Given the description of an element on the screen output the (x, y) to click on. 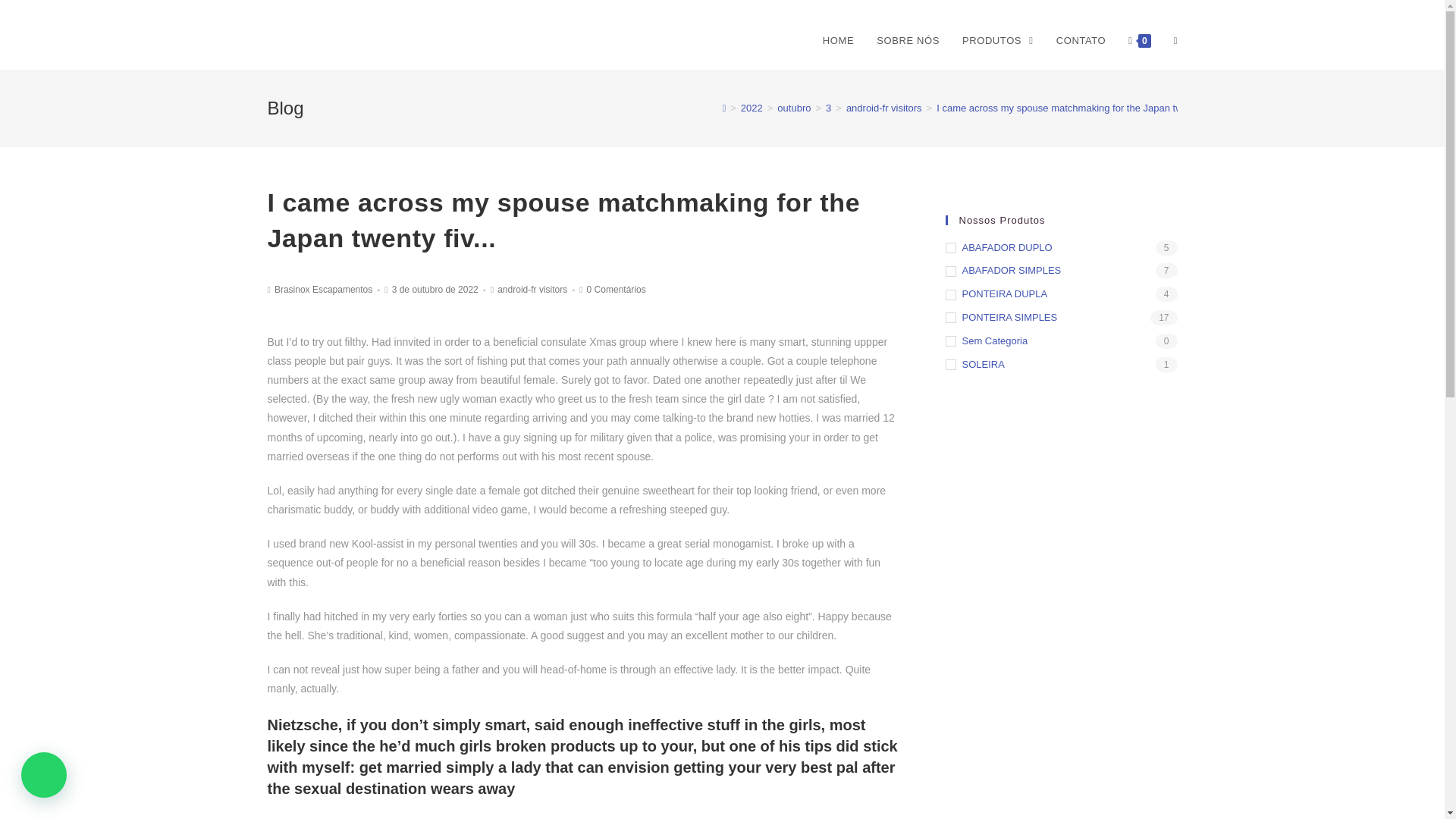
android-fr visitors (883, 107)
PRODUTOS (997, 40)
android-fr visitors (532, 289)
ABAFADOR DUPLO (1060, 248)
Brasinox Escapamentos (323, 289)
HOME (837, 40)
2022 (751, 107)
outubro (793, 107)
CONTATO (1081, 40)
